Given the description of an element on the screen output the (x, y) to click on. 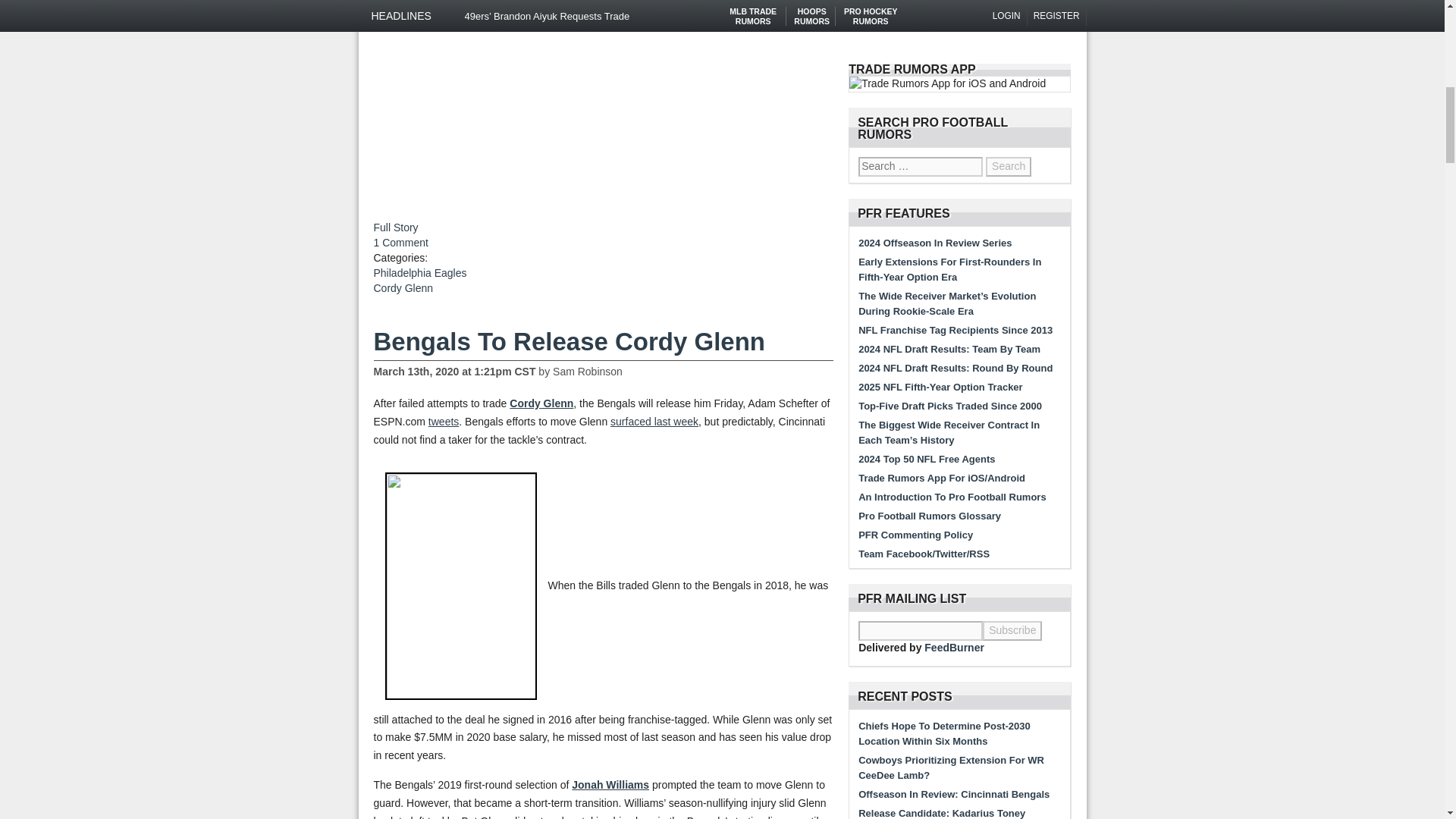
View all posts in Philadelphia Eagles (418, 272)
Search (1007, 166)
Subscribe (1012, 630)
View all posts in Cordy Glenn (402, 287)
